Given the description of an element on the screen output the (x, y) to click on. 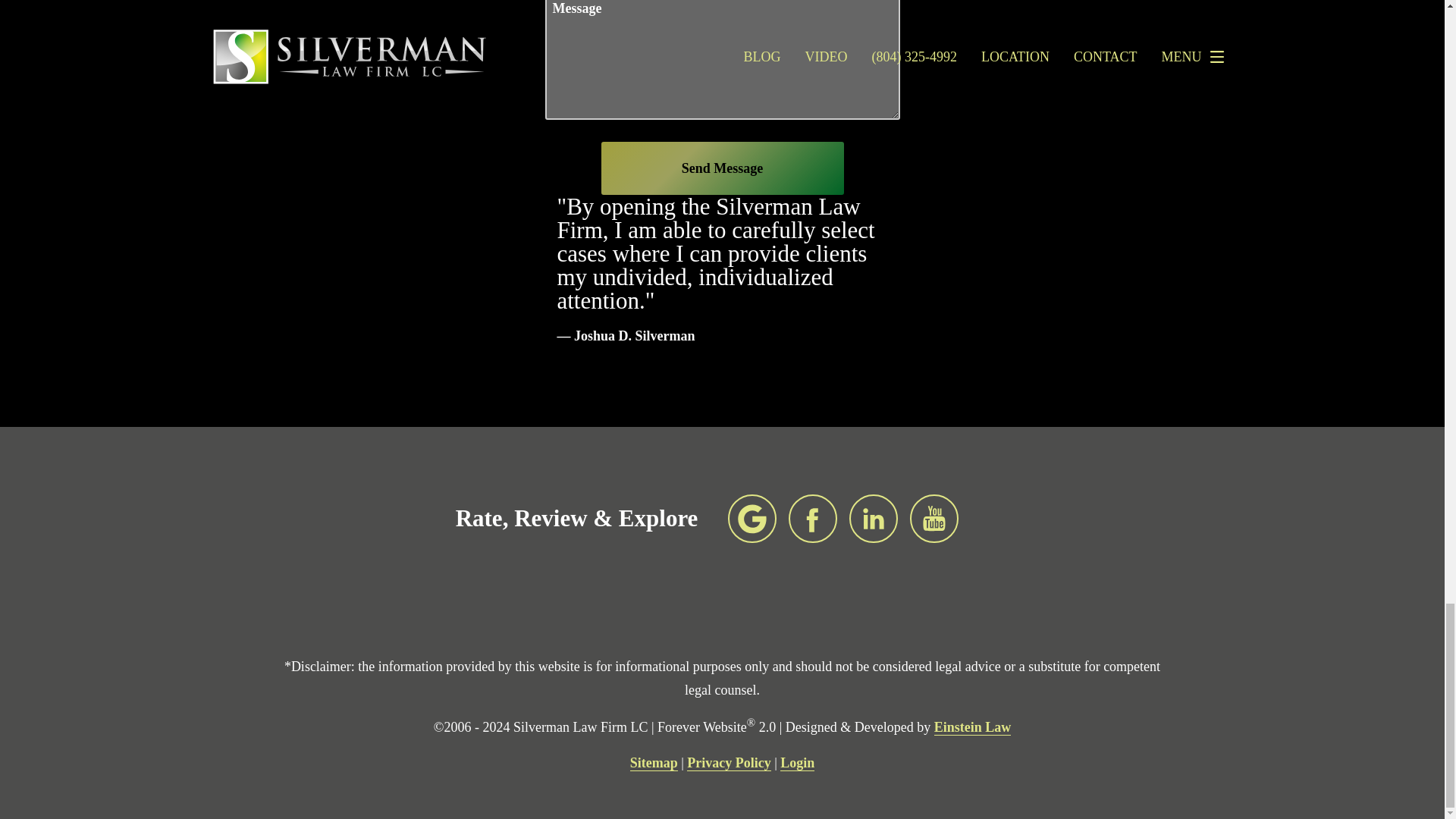
Facebook (813, 518)
Google (752, 518)
YouTube (934, 518)
LinkedIn (873, 518)
Send Message (721, 167)
